Given the description of an element on the screen output the (x, y) to click on. 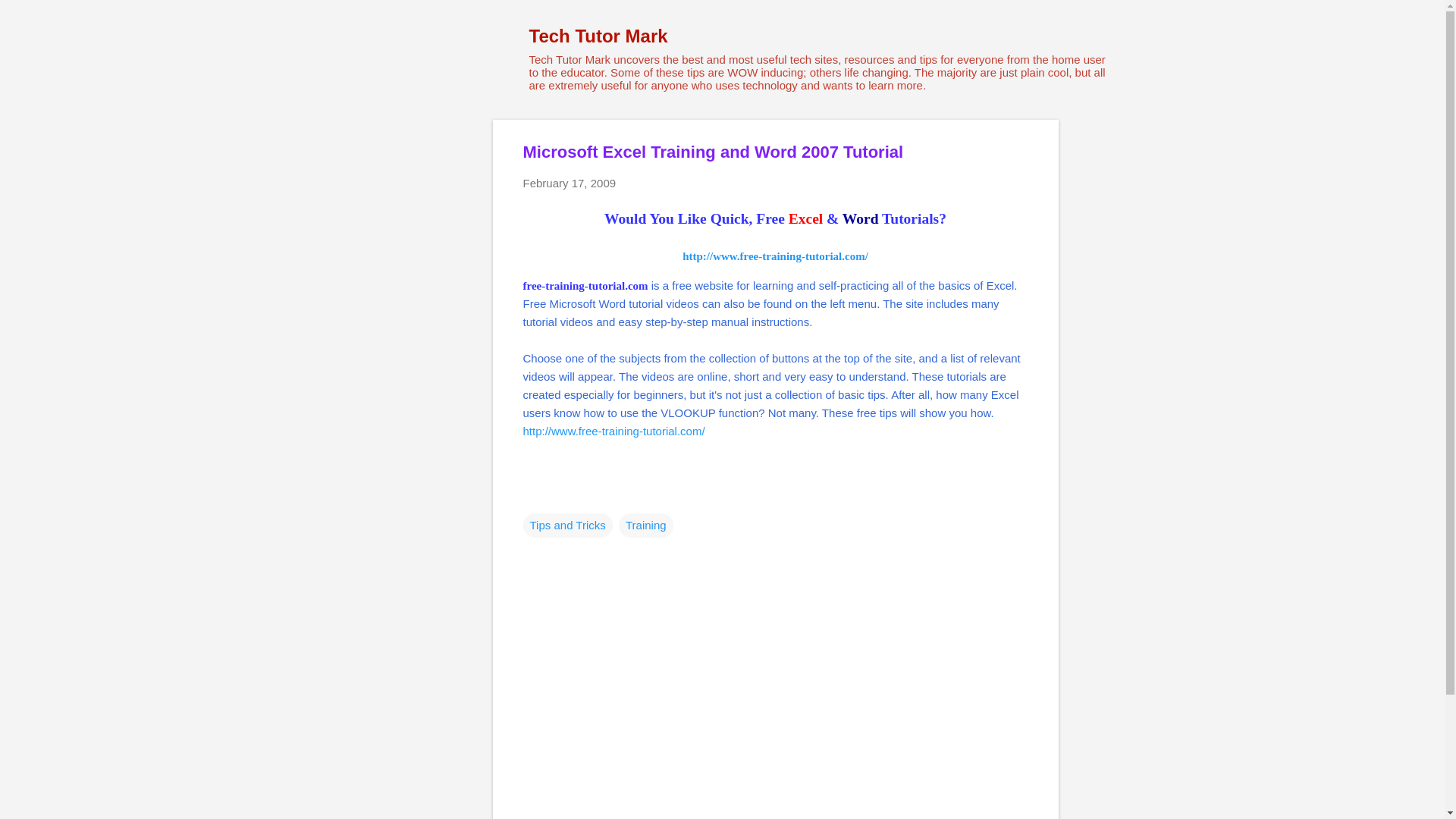
permanent link (568, 182)
February 17, 2009 (568, 182)
Email Post (531, 494)
Tech Tutor Mark (598, 35)
Search (29, 18)
Tips and Tricks (567, 524)
Training (645, 524)
